Given the description of an element on the screen output the (x, y) to click on. 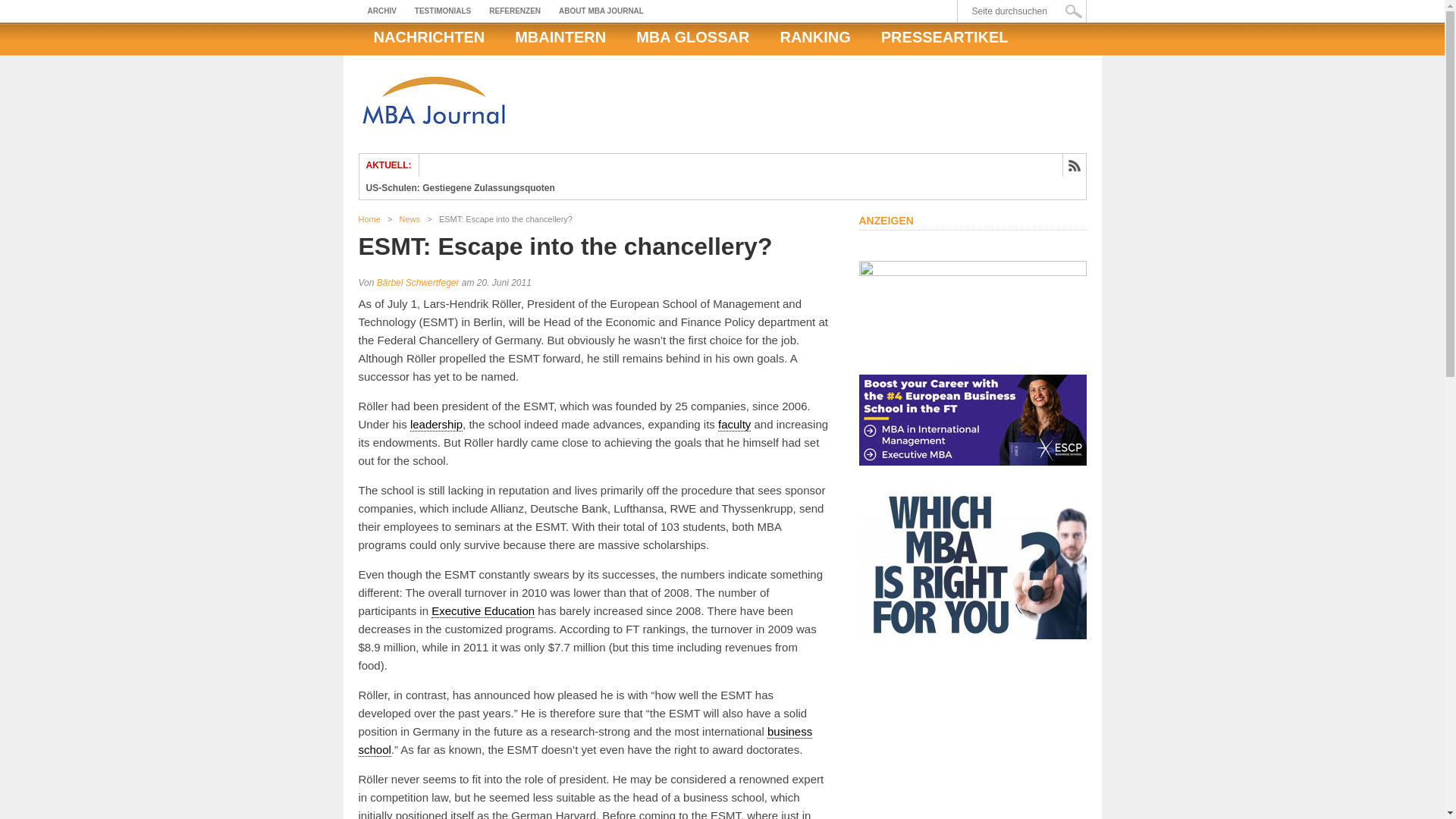
TESTIMONIALS (443, 11)
leadership (436, 424)
REFERENZEN (515, 11)
business school (585, 740)
Presseartikel aus der MBA Welt (944, 36)
Seite durchsuchen (1024, 11)
Home (369, 218)
NACHRICHTEN (428, 36)
MBA GLOSSAR (692, 36)
US-Schulen: Gestiegene Zulassungsquoten (459, 187)
RANKING (814, 36)
Begriff: Leadership (436, 424)
News (409, 218)
ABOUT MBA JOURNAL (601, 11)
ARCHIV (381, 11)
